Given the description of an element on the screen output the (x, y) to click on. 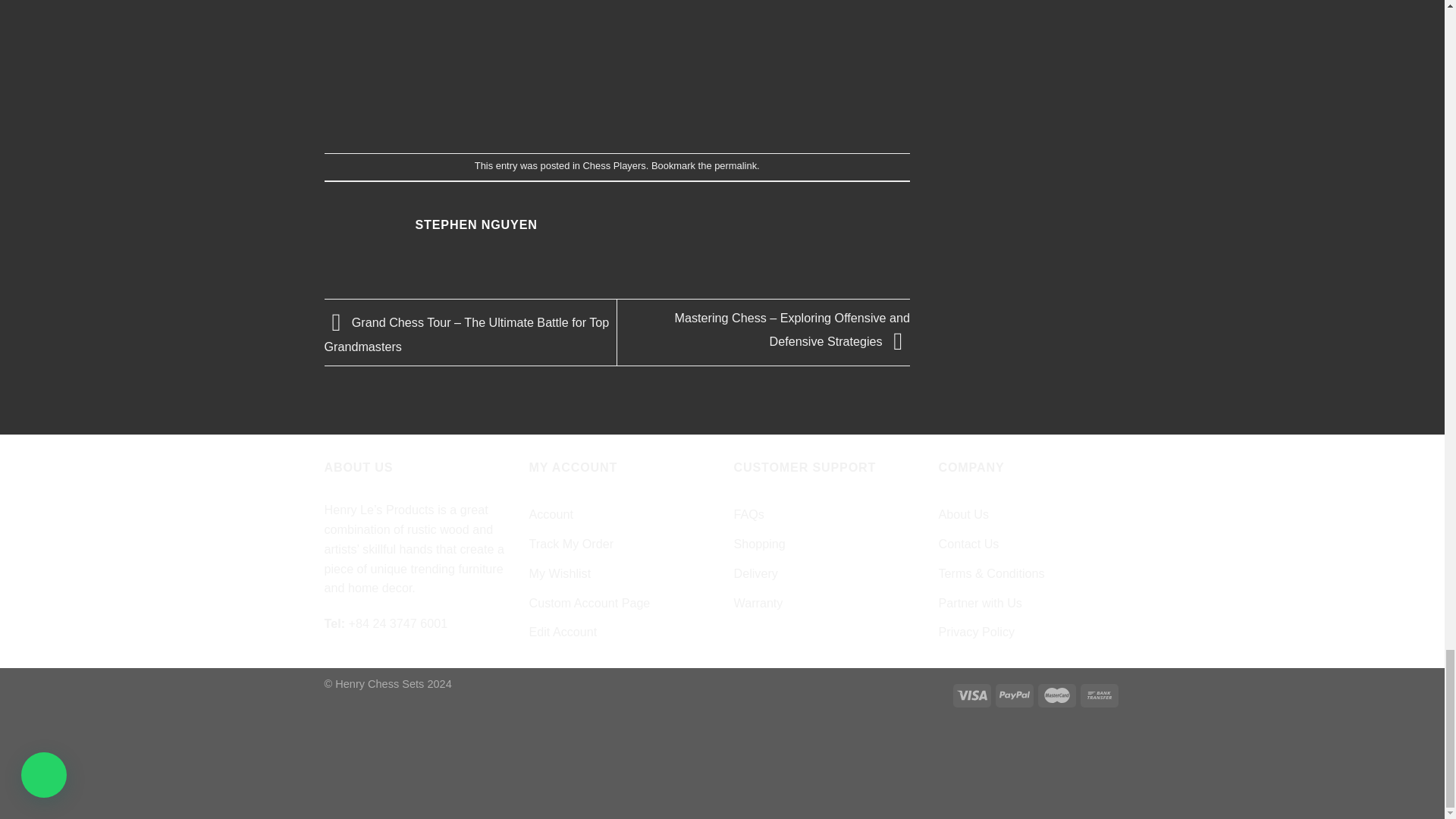
Bobby Fischer - Prodigious Chess Player 4 (617, 59)
permalink (735, 165)
Chess Players (614, 165)
